Given the description of an element on the screen output the (x, y) to click on. 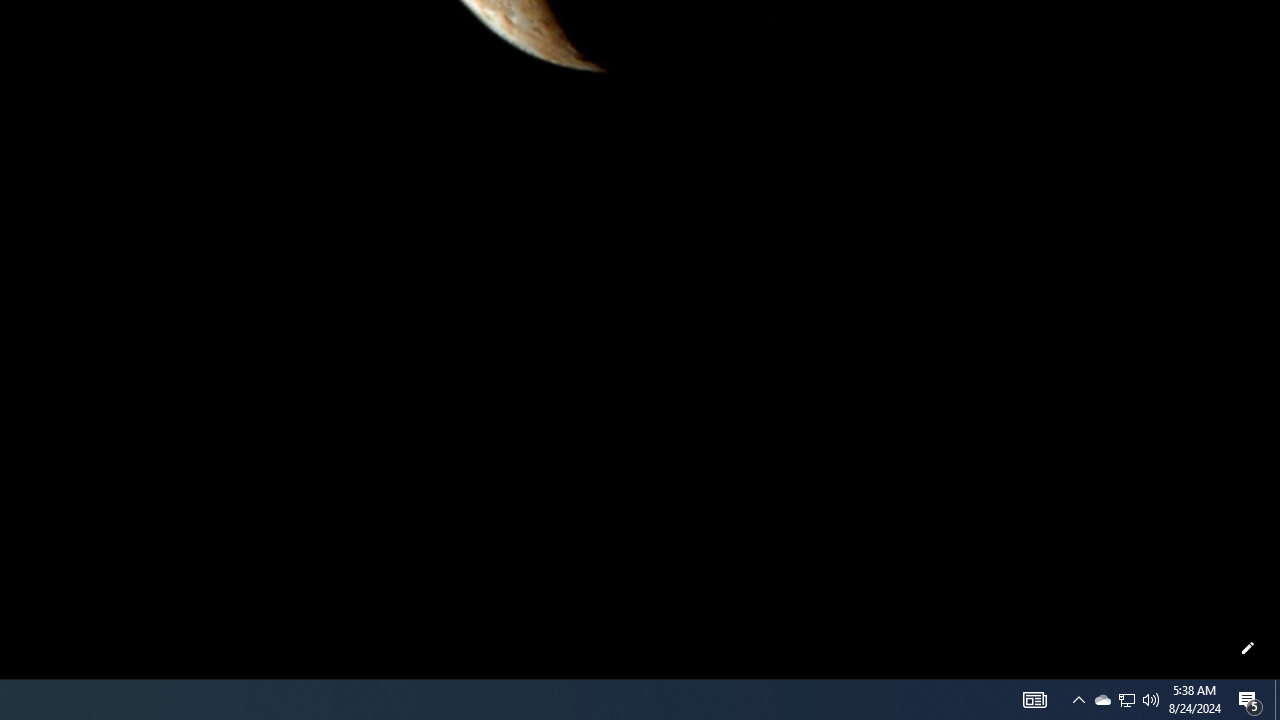
Customize this page (1247, 647)
